Given the description of an element on the screen output the (x, y) to click on. 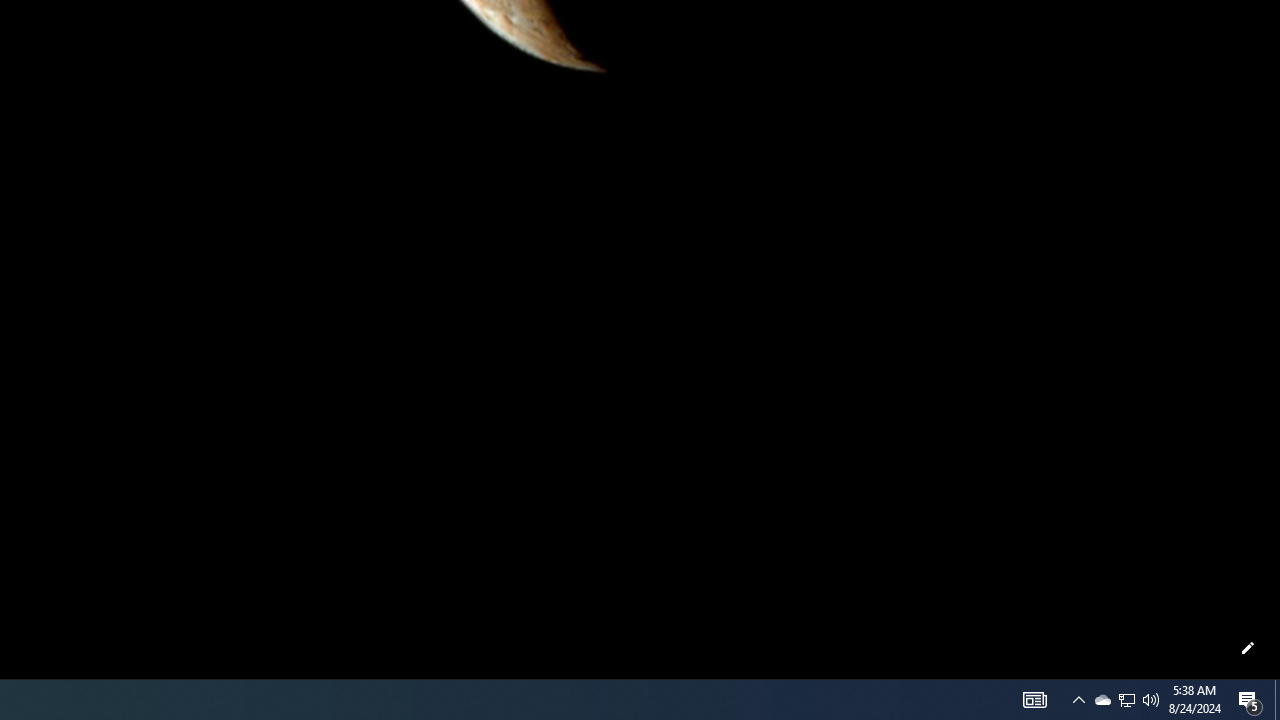
Customize this page (1247, 647)
